Given the description of an element on the screen output the (x, y) to click on. 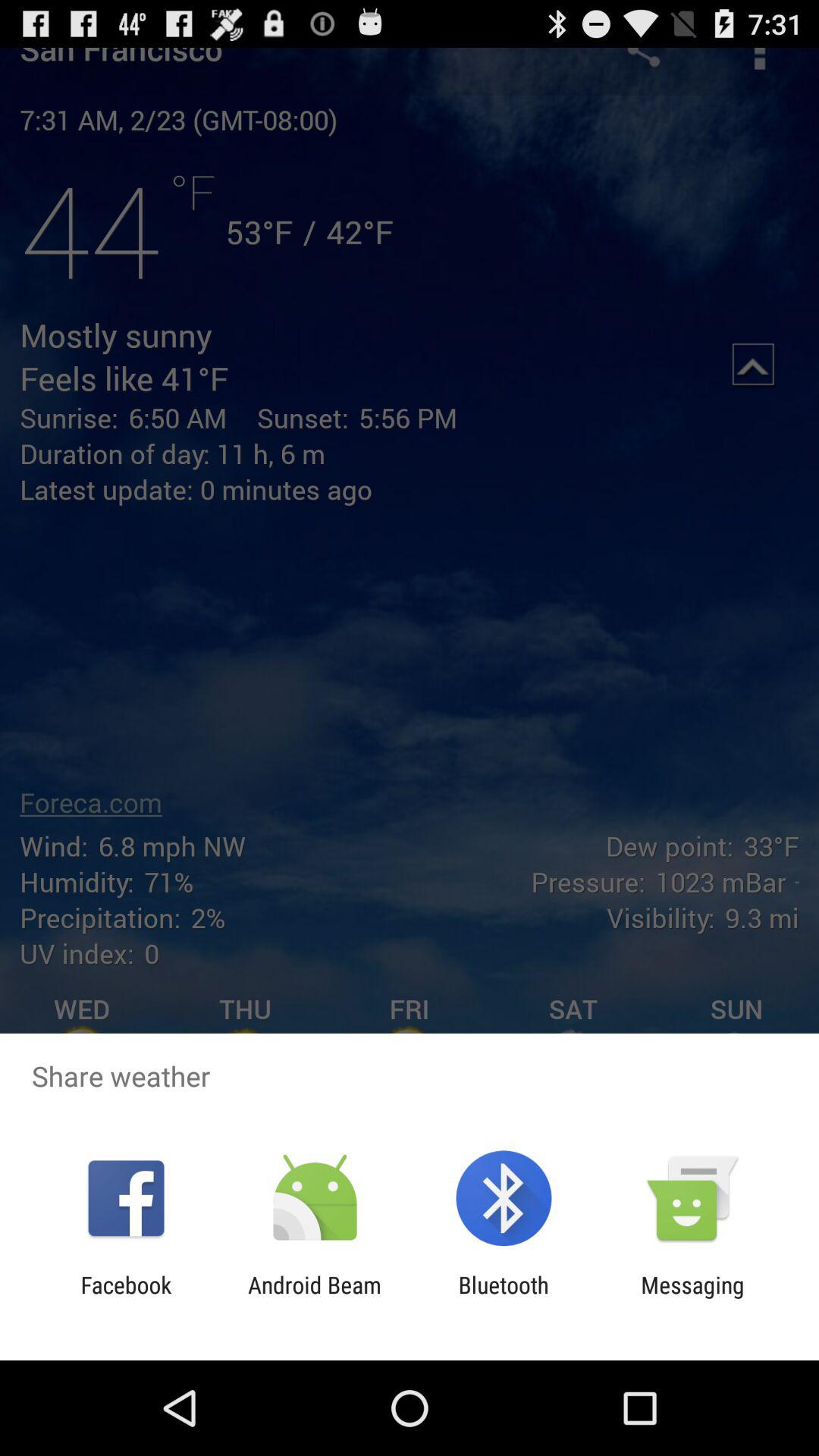
flip to bluetooth item (503, 1298)
